Given the description of an element on the screen output the (x, y) to click on. 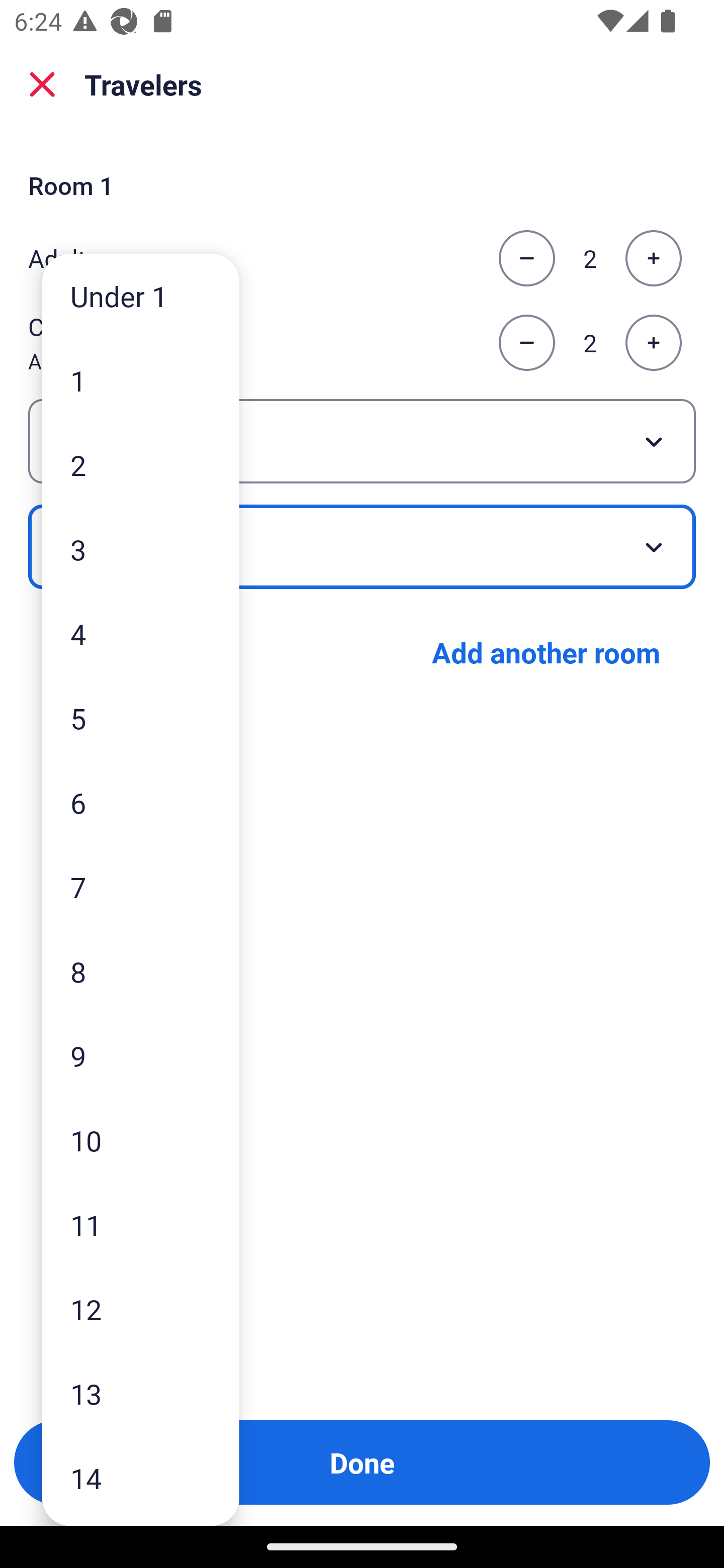
Under 1 (140, 296)
1 (140, 380)
2 (140, 464)
3 (140, 548)
4 (140, 633)
5 (140, 717)
6 (140, 802)
7 (140, 887)
8 (140, 970)
9 (140, 1054)
10 (140, 1139)
11 (140, 1224)
12 (140, 1308)
13 (140, 1393)
14 (140, 1478)
